Given the description of an element on the screen output the (x, y) to click on. 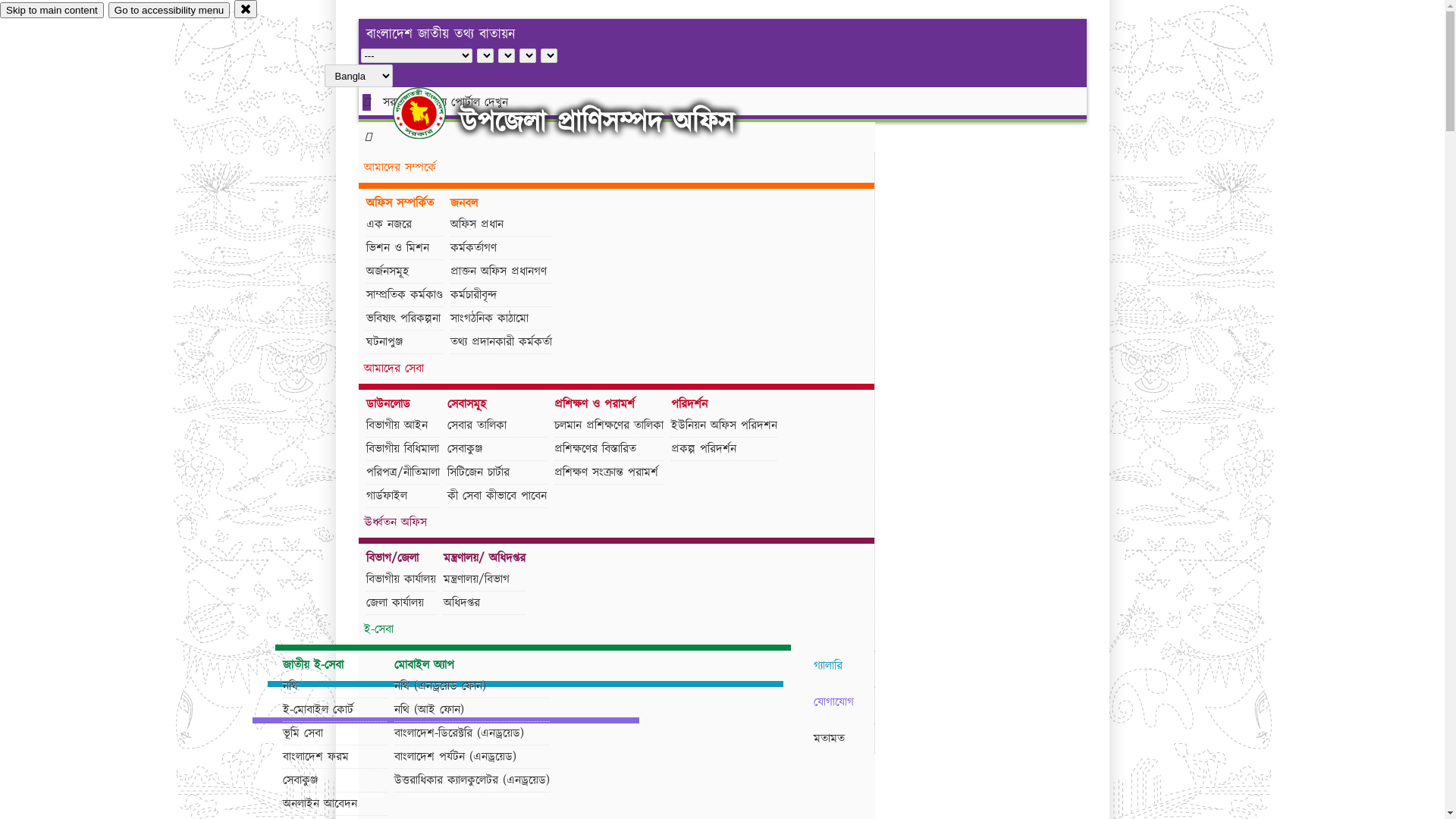
Go to accessibility menu Element type: text (168, 10)
close Element type: hover (245, 9)

                
             Element type: hover (431, 112)
Skip to main content Element type: text (51, 10)
